Given the description of an element on the screen output the (x, y) to click on. 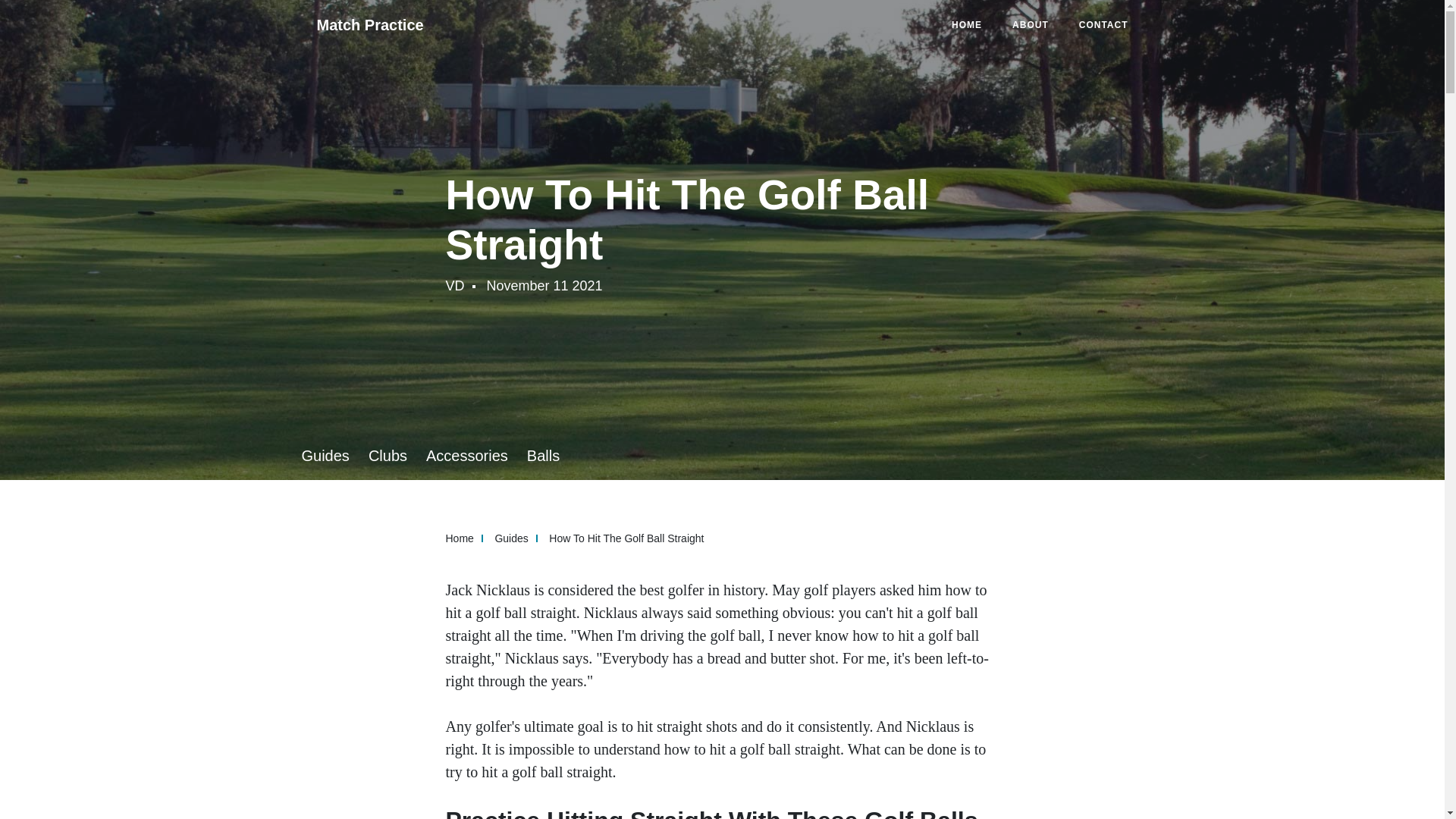
ABOUT (1030, 24)
Guides (325, 455)
HOME (966, 24)
Guides (519, 538)
Balls (543, 455)
Home (467, 538)
CONTACT (1103, 24)
Accessories (467, 455)
Clubs (387, 455)
How To Hit The Golf Ball Straight (625, 538)
